Given the description of an element on the screen output the (x, y) to click on. 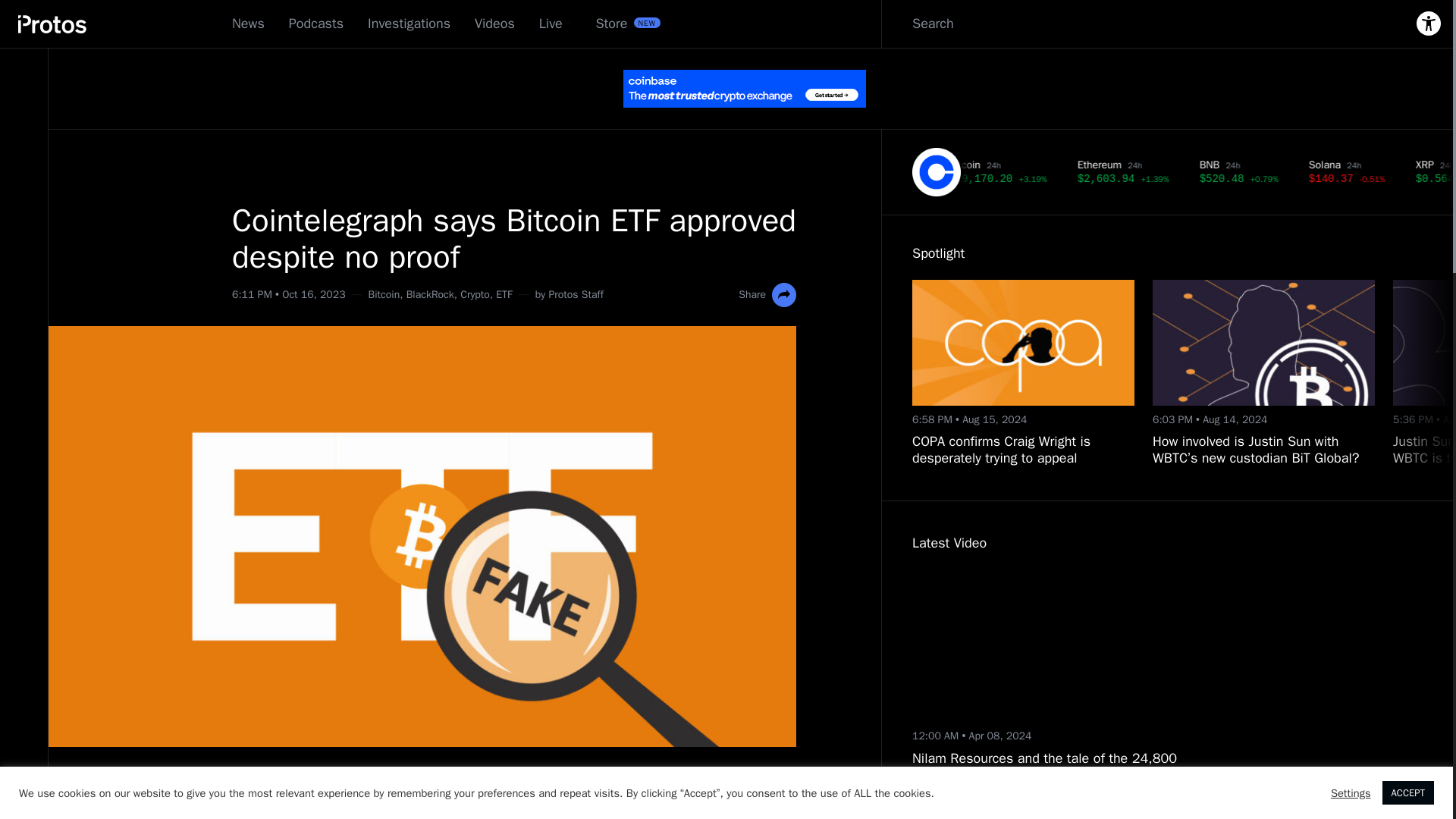
Podcasts (315, 23)
Investigations (408, 23)
YouTube video player (1051, 644)
Crypto (474, 294)
BlackRock (430, 294)
Bitcoin (384, 294)
Protos Staff (575, 294)
